Given the description of an element on the screen output the (x, y) to click on. 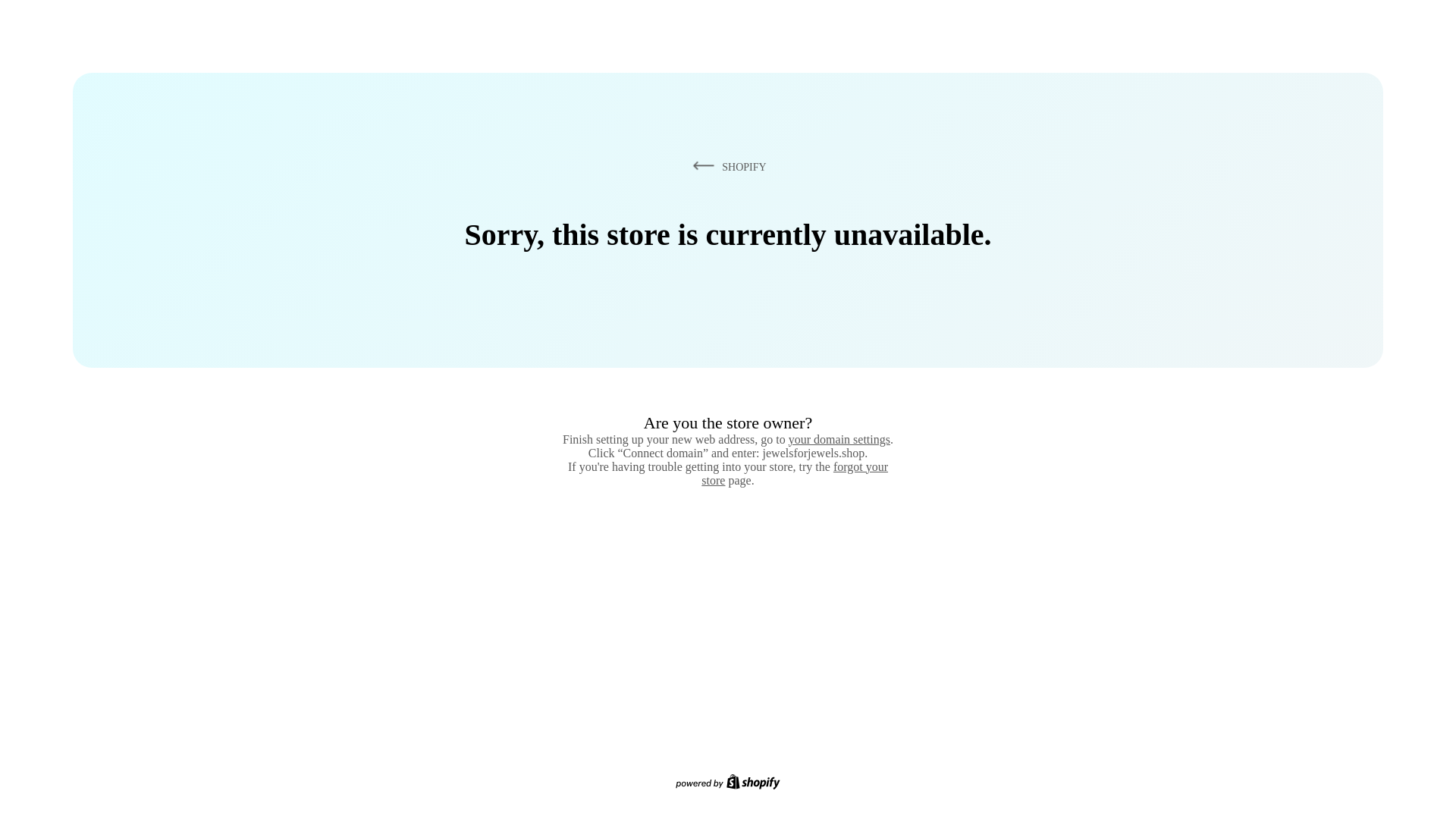
forgot your store (794, 473)
your domain settings (839, 439)
SHOPIFY (726, 166)
